Given the description of an element on the screen output the (x, y) to click on. 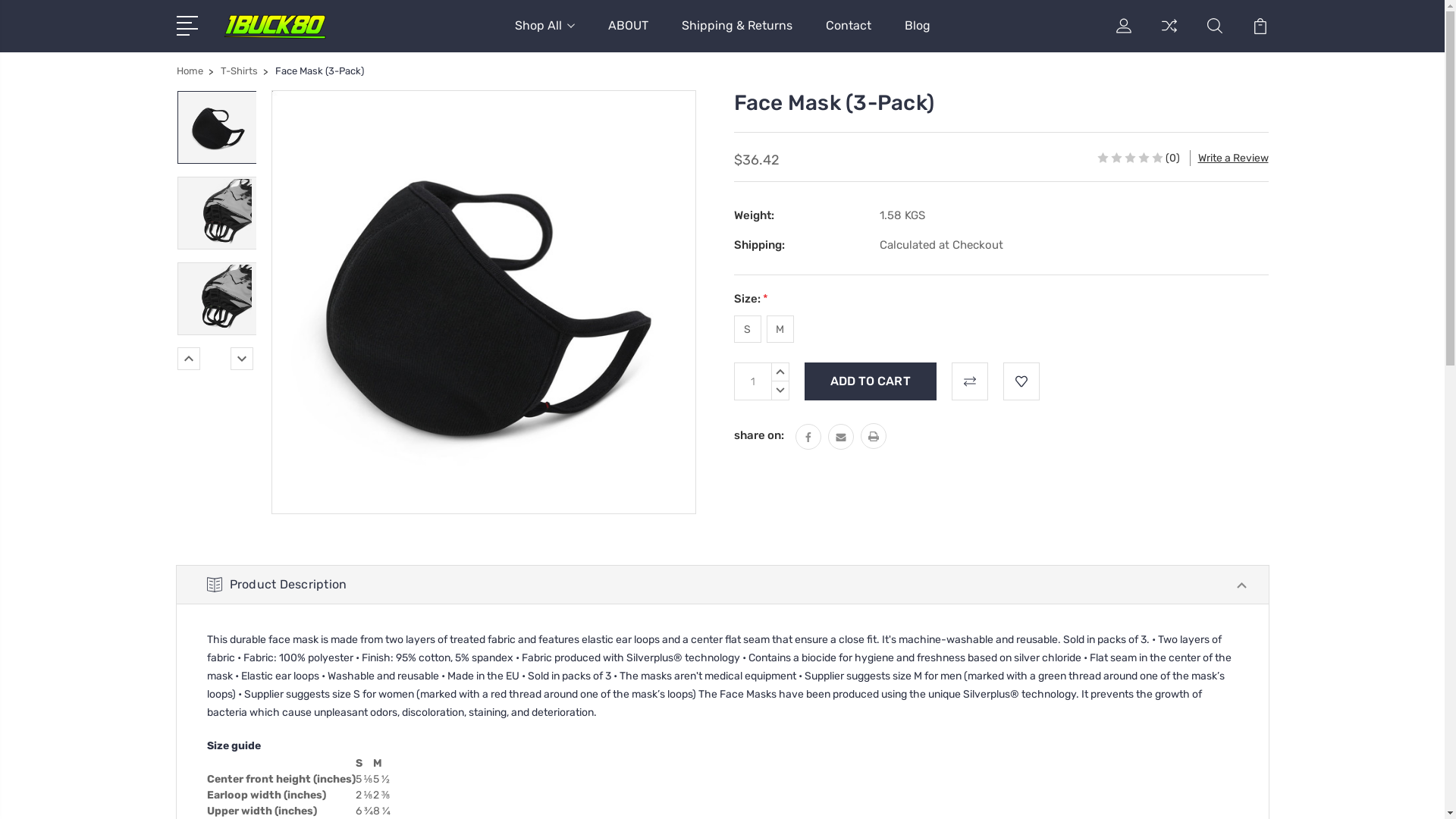
Shop All Element type: text (544, 34)
Face Mask (3-Pack) Element type: hover (217, 126)
ABOUT Element type: text (628, 34)
Home Element type: text (188, 70)
Write a Review Element type: text (1233, 157)
Face Mask (3-Pack) Element type: hover (483, 302)
Add to Cart Element type: text (869, 381)
T-Shirts Element type: text (238, 70)
INCREASE QUANTITY: Element type: text (780, 371)
Compare Element type: hover (1168, 34)
Face Mask (3-Pack) Element type: hover (217, 297)
1buck80 Element type: hover (273, 26)
Blog Element type: text (916, 34)
Face Mask (3-Pack) Element type: hover (217, 212)
Shipping & Returns Element type: text (735, 34)
Product Description Element type: text (721, 584)
Contact Element type: text (847, 34)
DECREASE QUANTITY: Element type: text (780, 390)
